Given the description of an element on the screen output the (x, y) to click on. 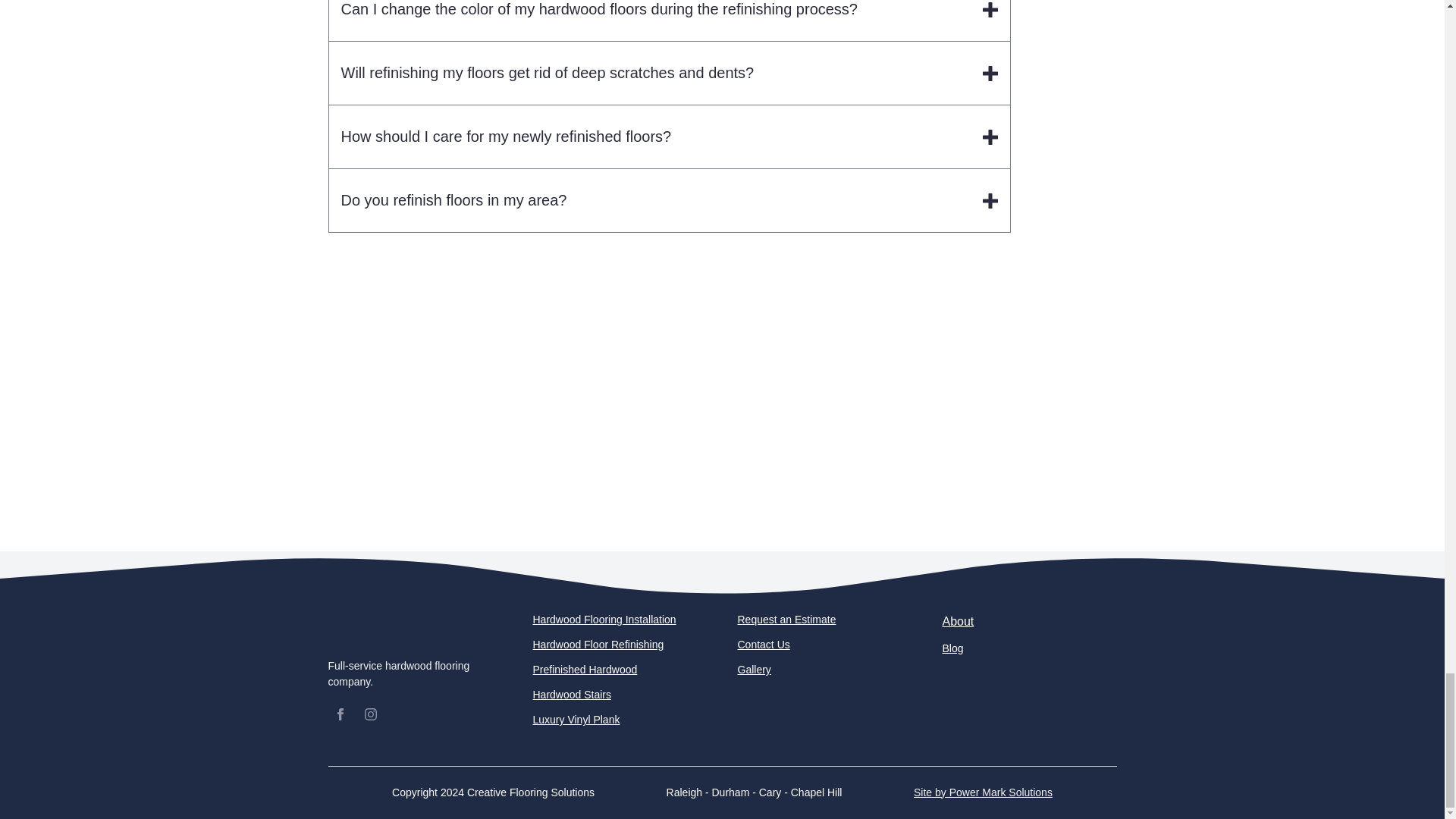
Do you refinish floors in my area? (669, 199)
How should I care for my newly refinished floors? (669, 136)
